Given the description of an element on the screen output the (x, y) to click on. 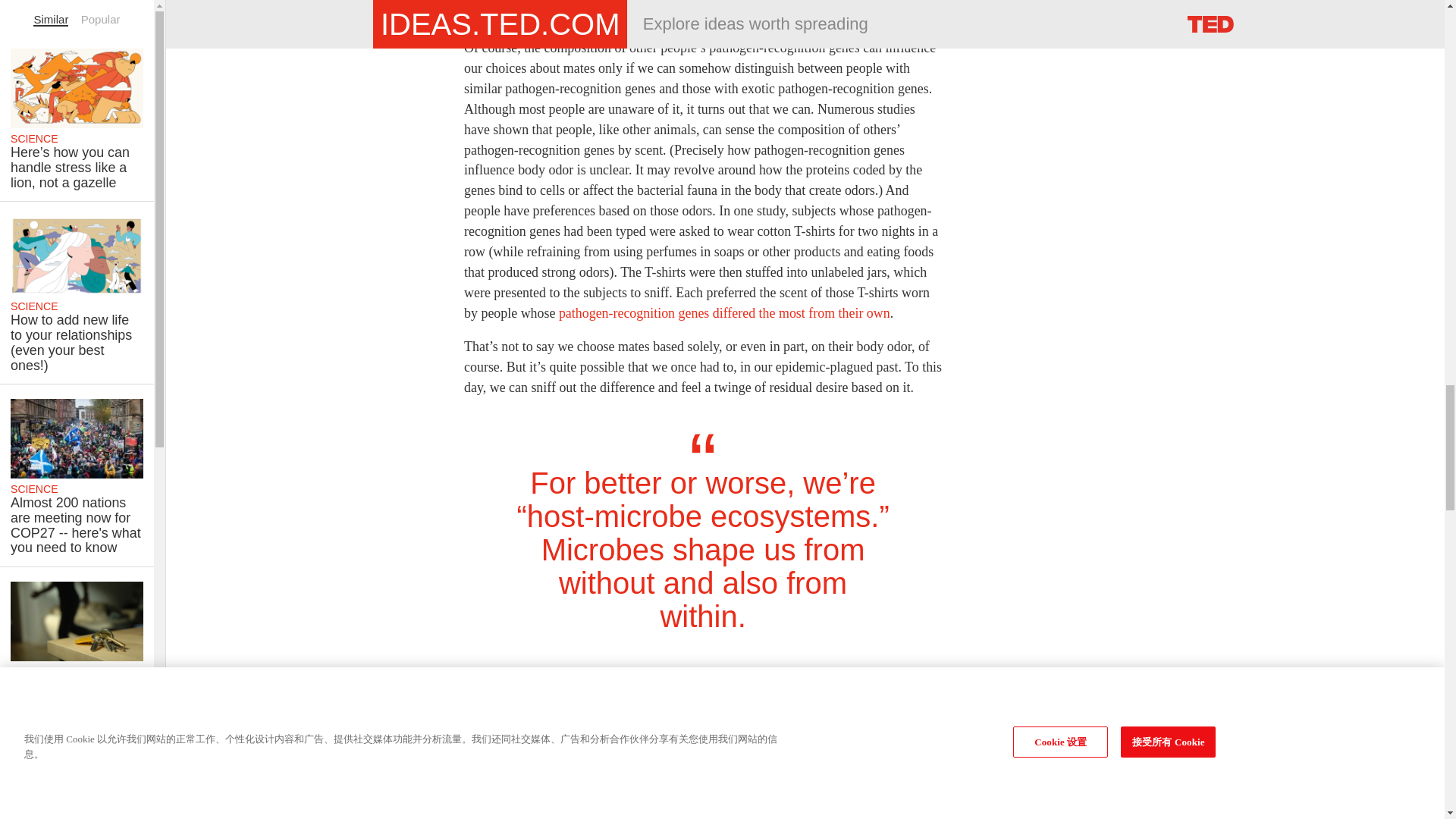
pathogen-recognition genes differed the most from their own (724, 313)
